Given the description of an element on the screen output the (x, y) to click on. 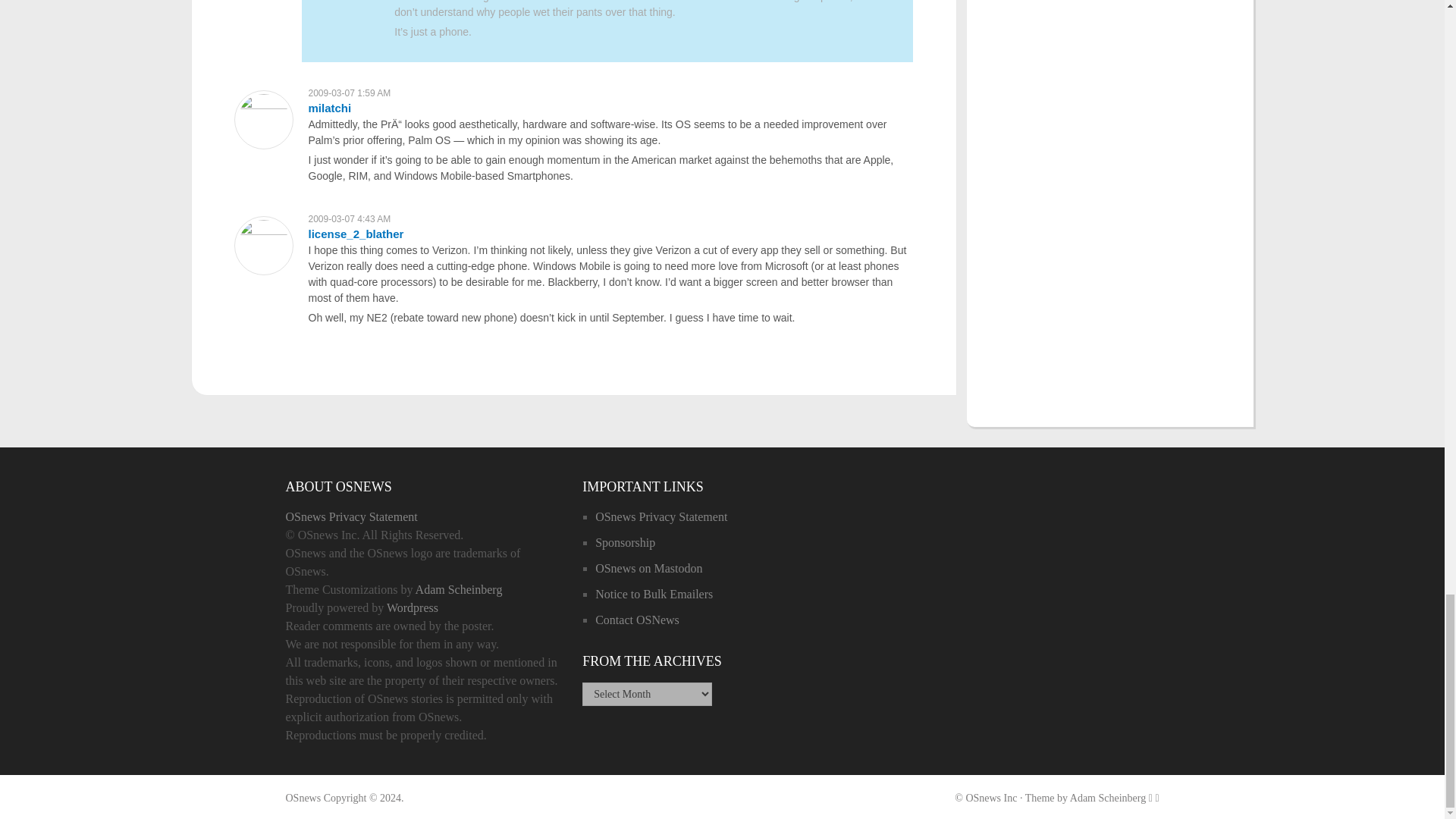
milatchi (328, 107)
Exploring the Future of Computing (302, 797)
